Given the description of an element on the screen output the (x, y) to click on. 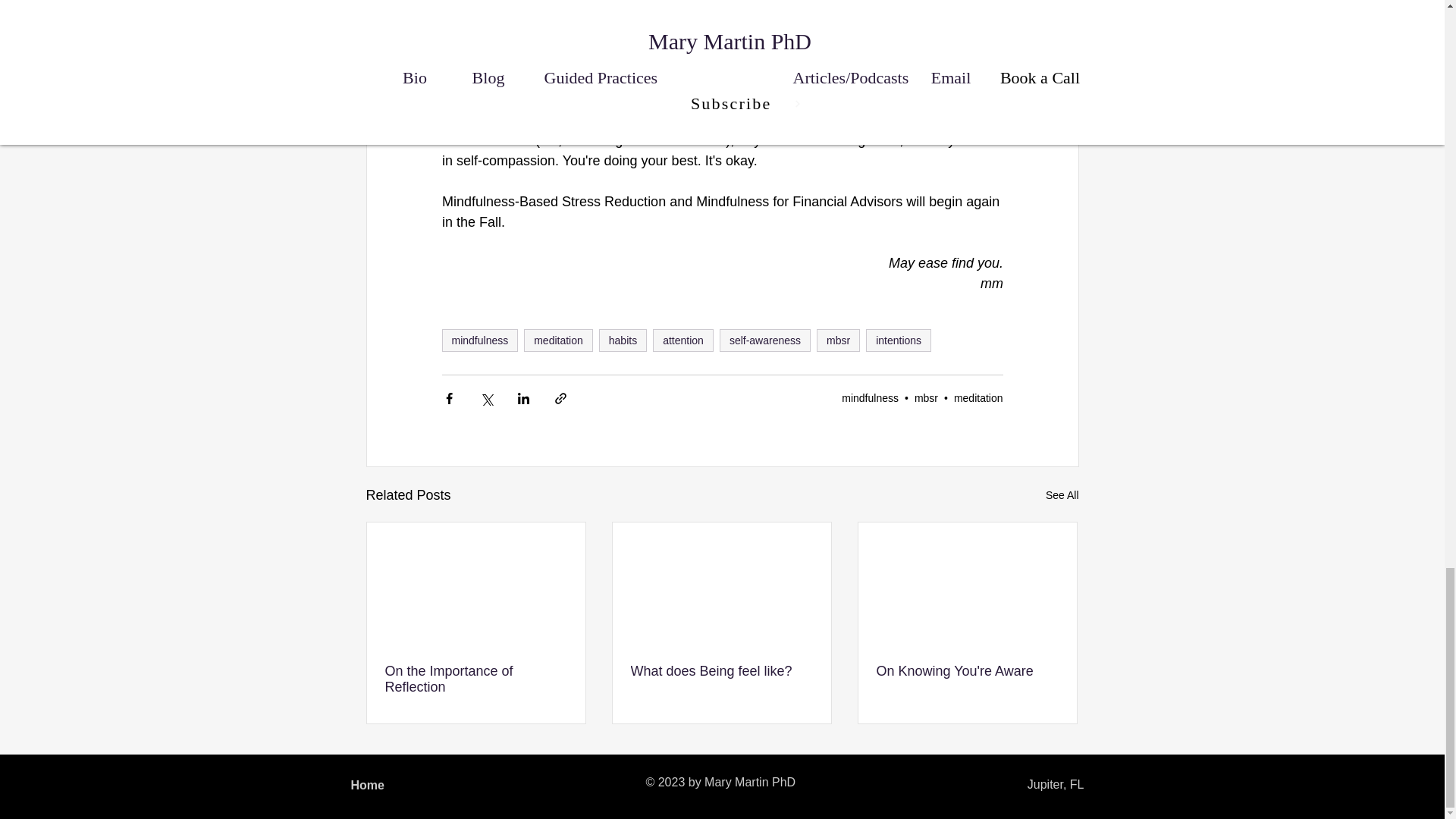
mindfulness (479, 340)
reflect (855, 44)
meditation (558, 340)
